Given the description of an element on the screen output the (x, y) to click on. 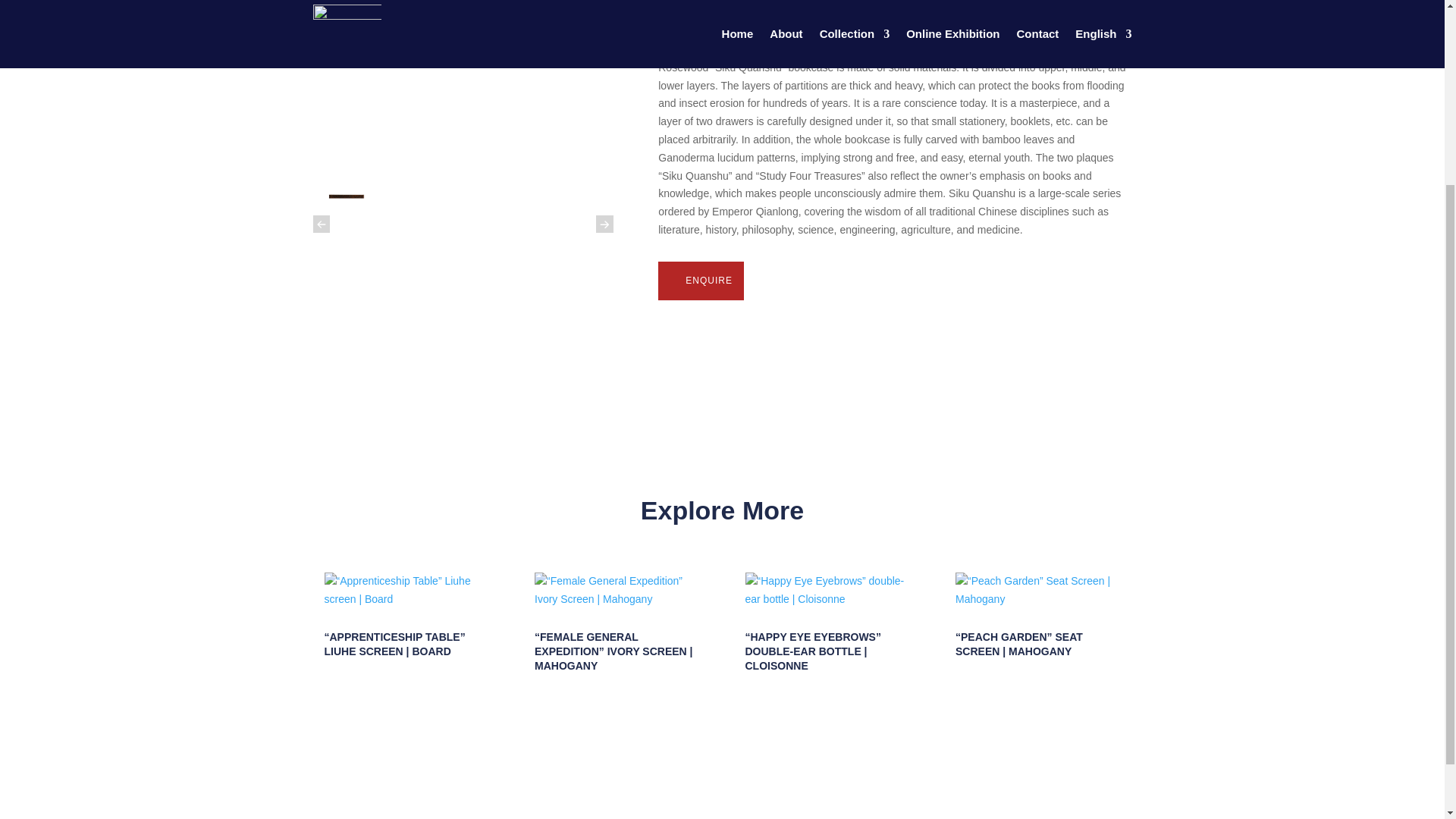
ENQUIRE (701, 280)
